Given the description of an element on the screen output the (x, y) to click on. 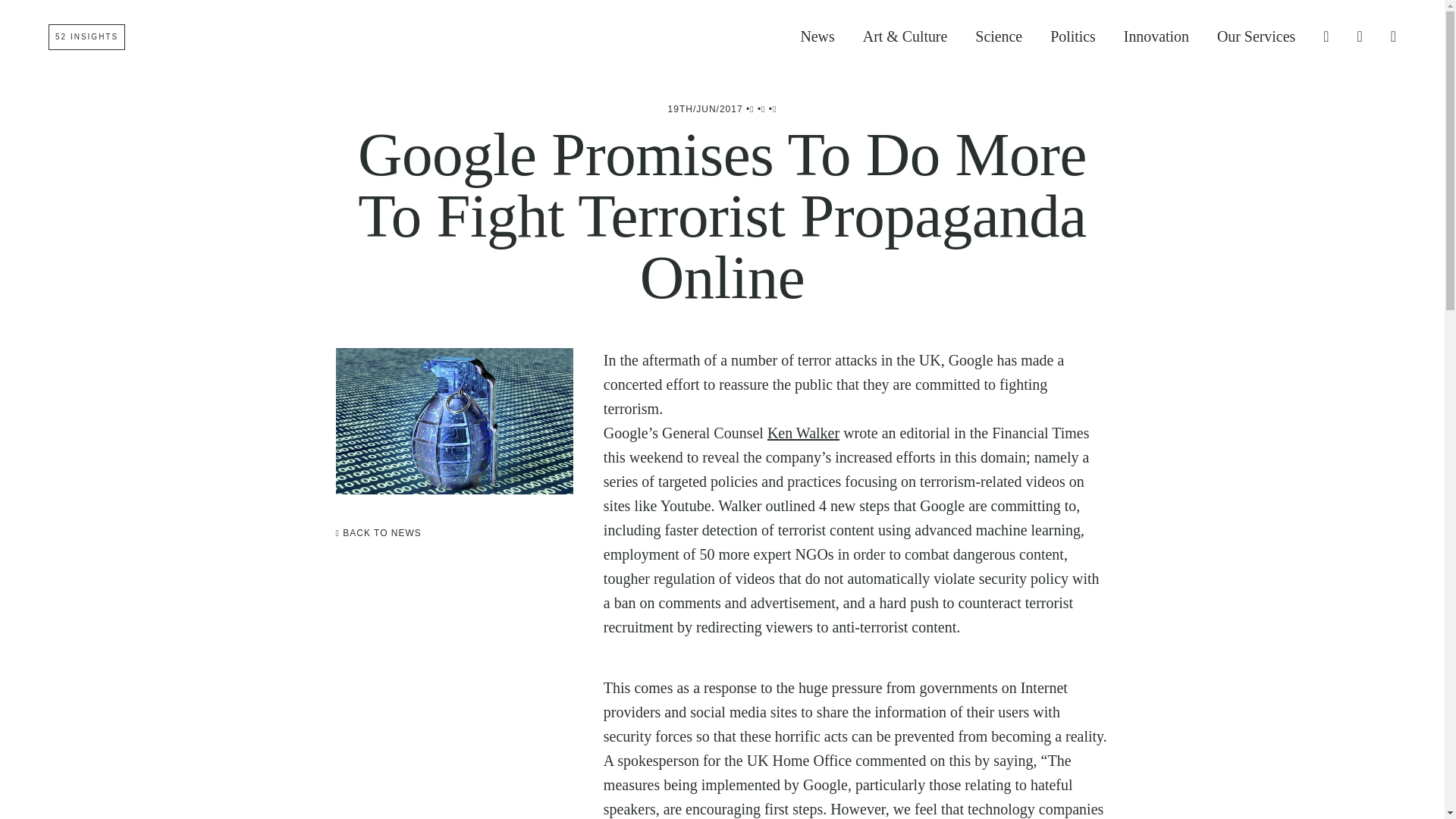
Ken Walker (803, 433)
Innovation (1156, 36)
52 INSIGHTS (86, 36)
BACK TO NEWS (377, 532)
52 Insights (86, 36)
News (816, 36)
Politics (1072, 36)
Our Services (1256, 36)
Science (998, 36)
